Given the description of an element on the screen output the (x, y) to click on. 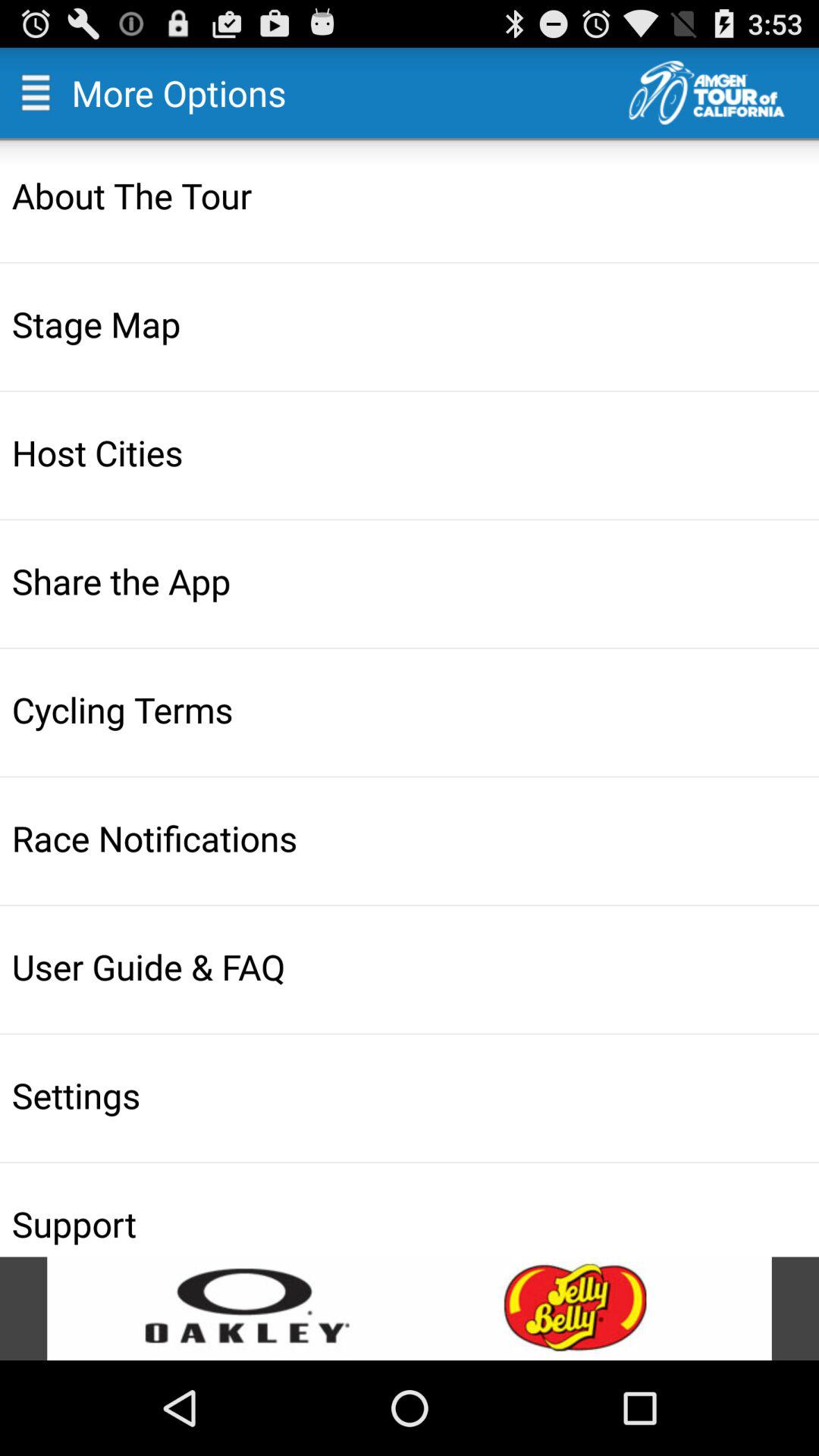
press item above the support item (411, 1094)
